Given the description of an element on the screen output the (x, y) to click on. 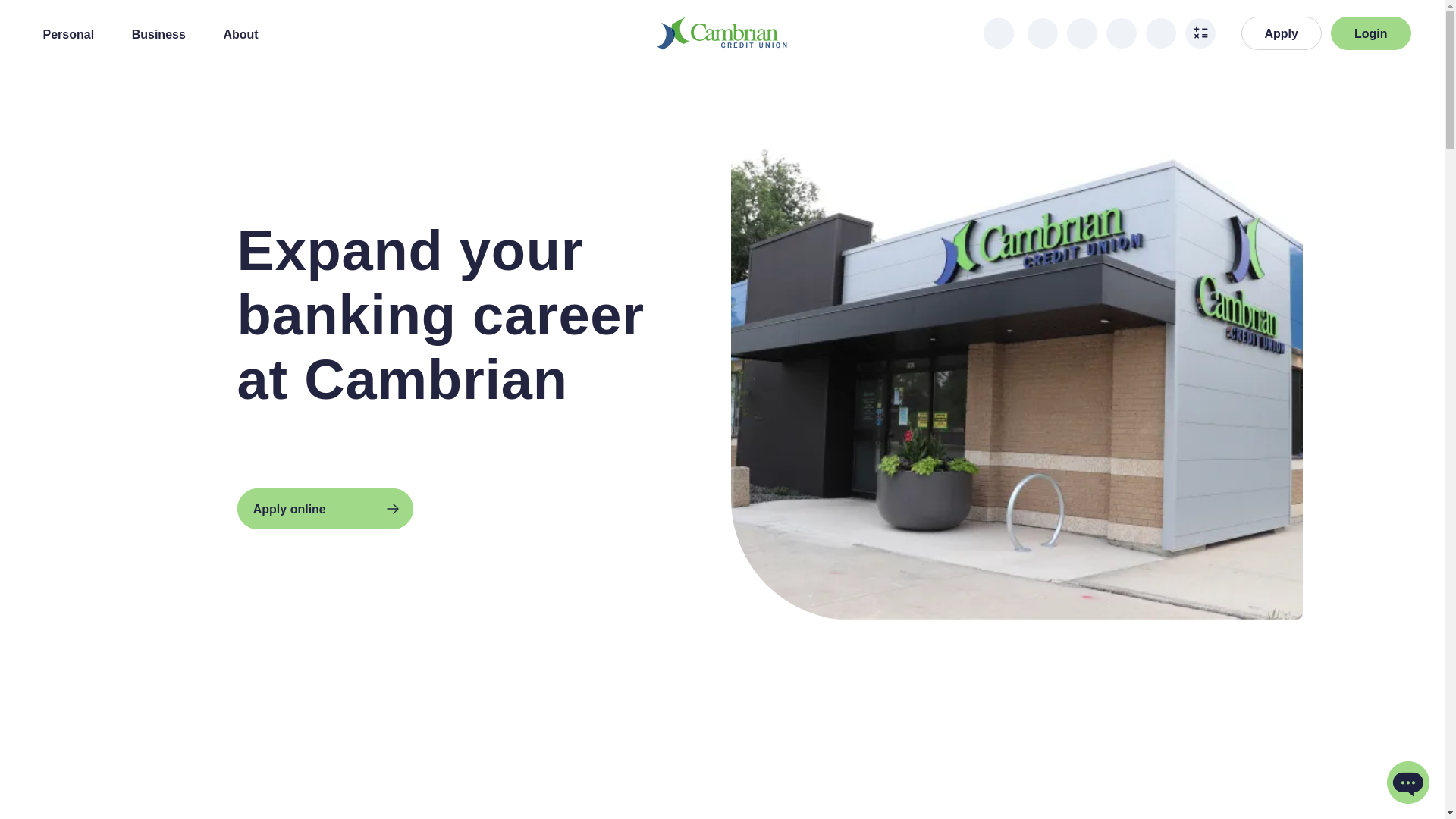
About (1370, 33)
Personal (240, 33)
Business (68, 33)
